Given the description of an element on the screen output the (x, y) to click on. 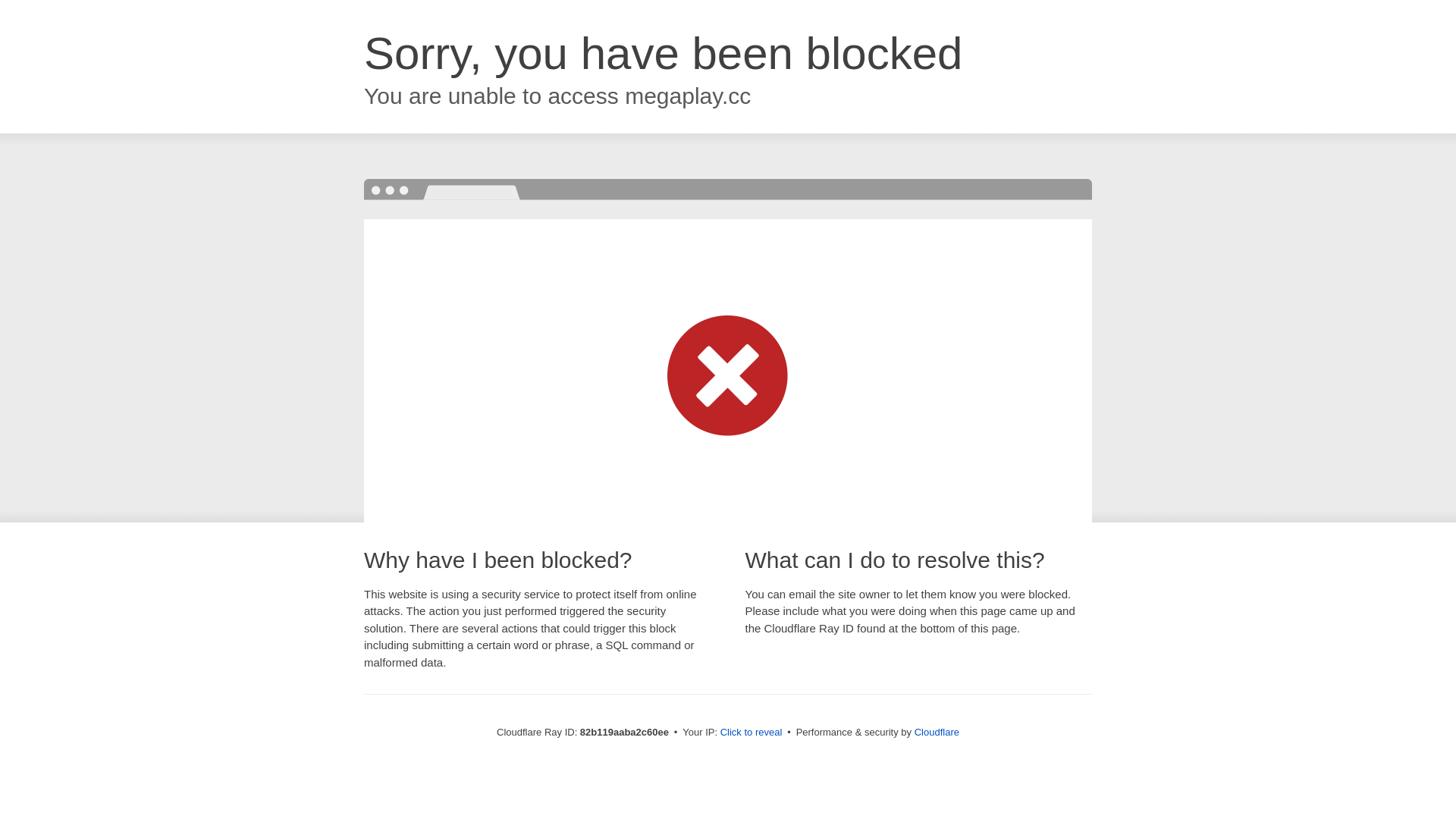
Cloudflare Element type: text (936, 731)
Click to reveal Element type: text (751, 732)
